Given the description of an element on the screen output the (x, y) to click on. 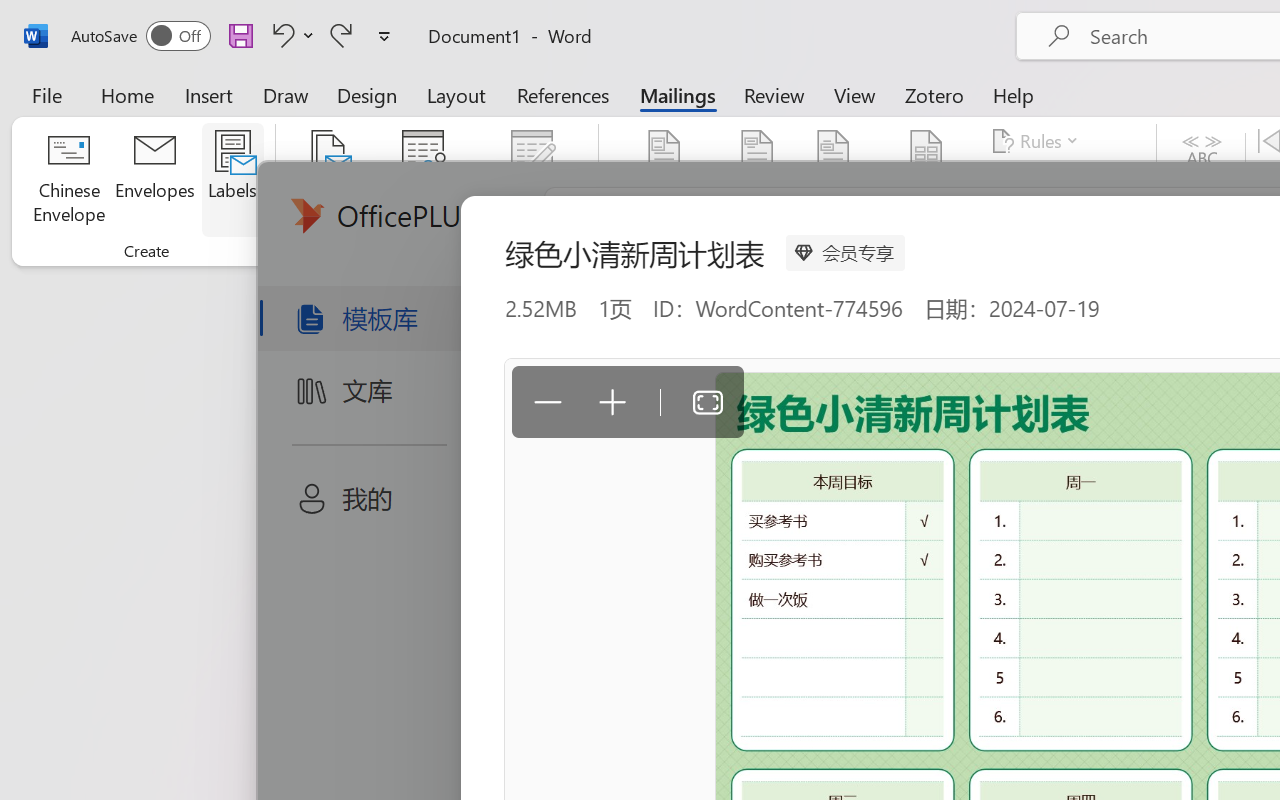
Redo Apply Quick Style (341, 35)
Tell me more (363, 449)
Labels... (232, 179)
Preview Results (1202, 179)
Chinese Envelope... (68, 179)
Rules (1037, 141)
Insert Merge Field (927, 151)
